Given the description of an element on the screen output the (x, y) to click on. 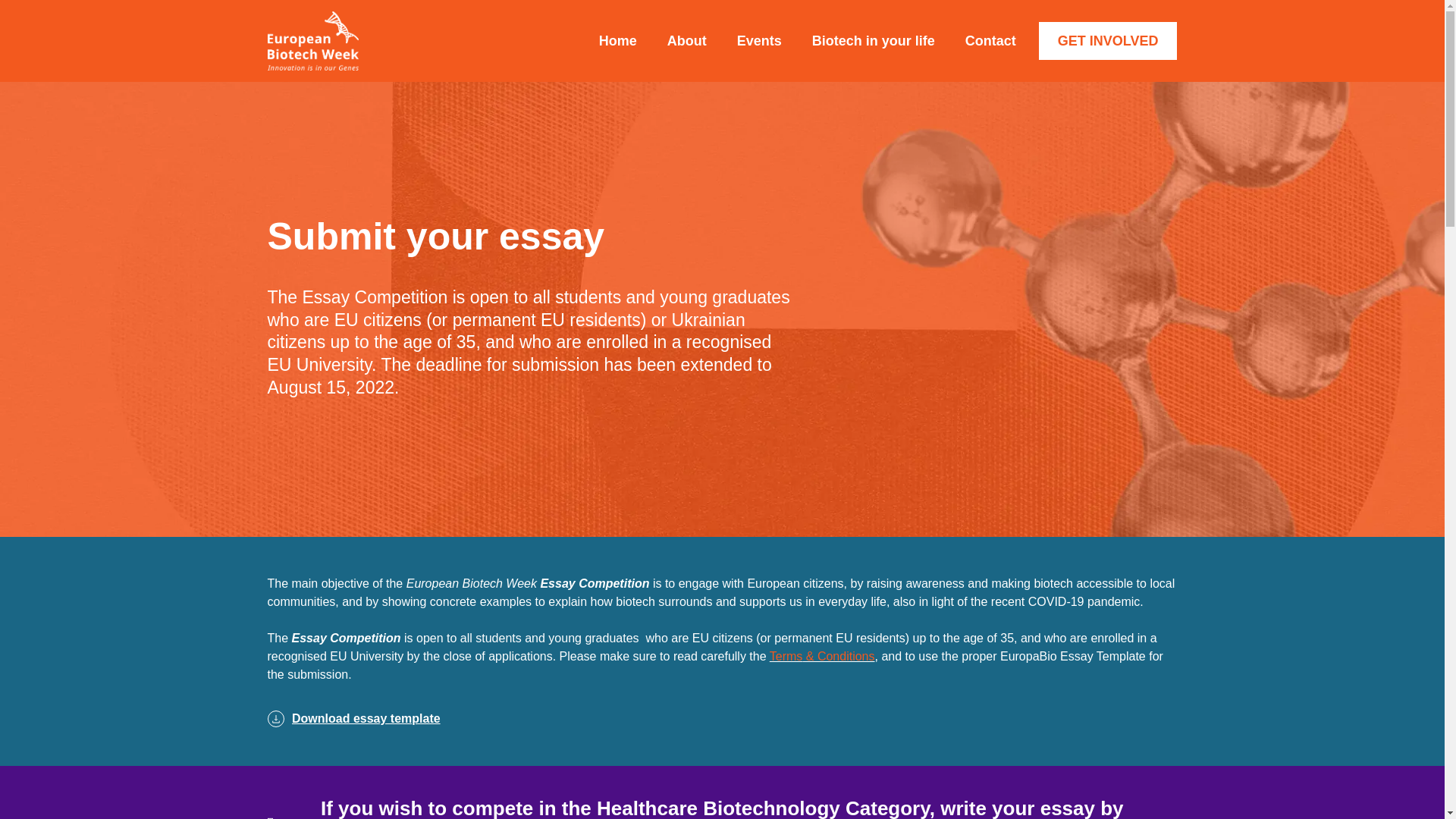
About (687, 40)
GET INVOLVED (1108, 40)
Home (617, 40)
Events (759, 40)
Download essay template (721, 719)
Contact (990, 40)
Biotech in your life (873, 40)
